Given the description of an element on the screen output the (x, y) to click on. 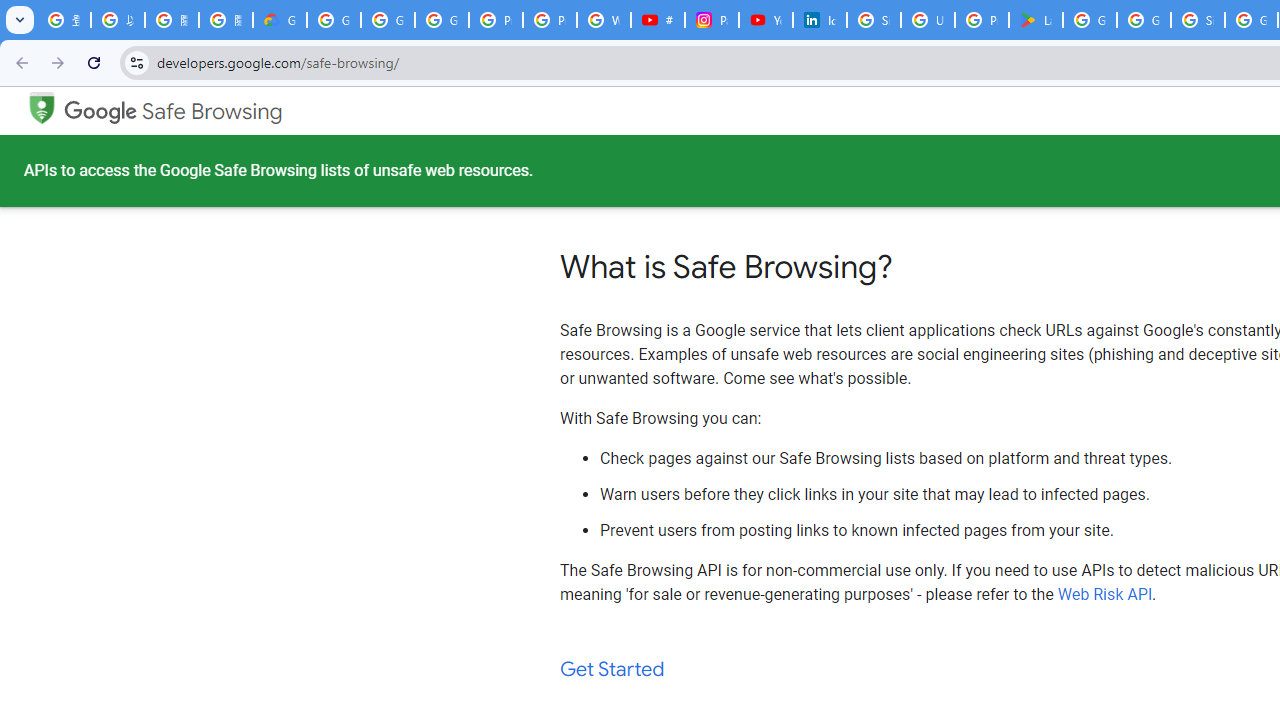
Google Workspace - Specific Terms (1144, 20)
Web Risk API (1105, 594)
